Given the description of an element on the screen output the (x, y) to click on. 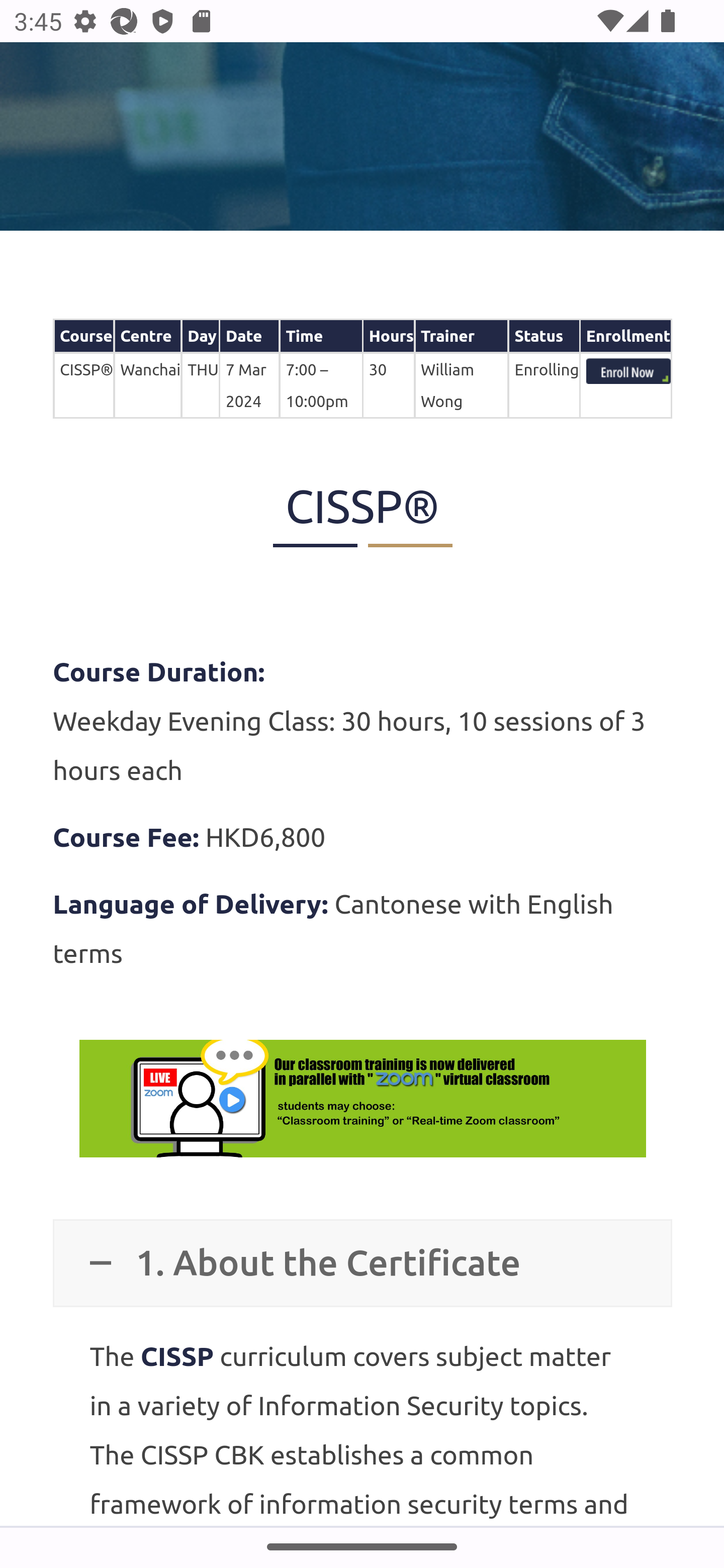
index (627, 373)
